Given the description of an element on the screen output the (x, y) to click on. 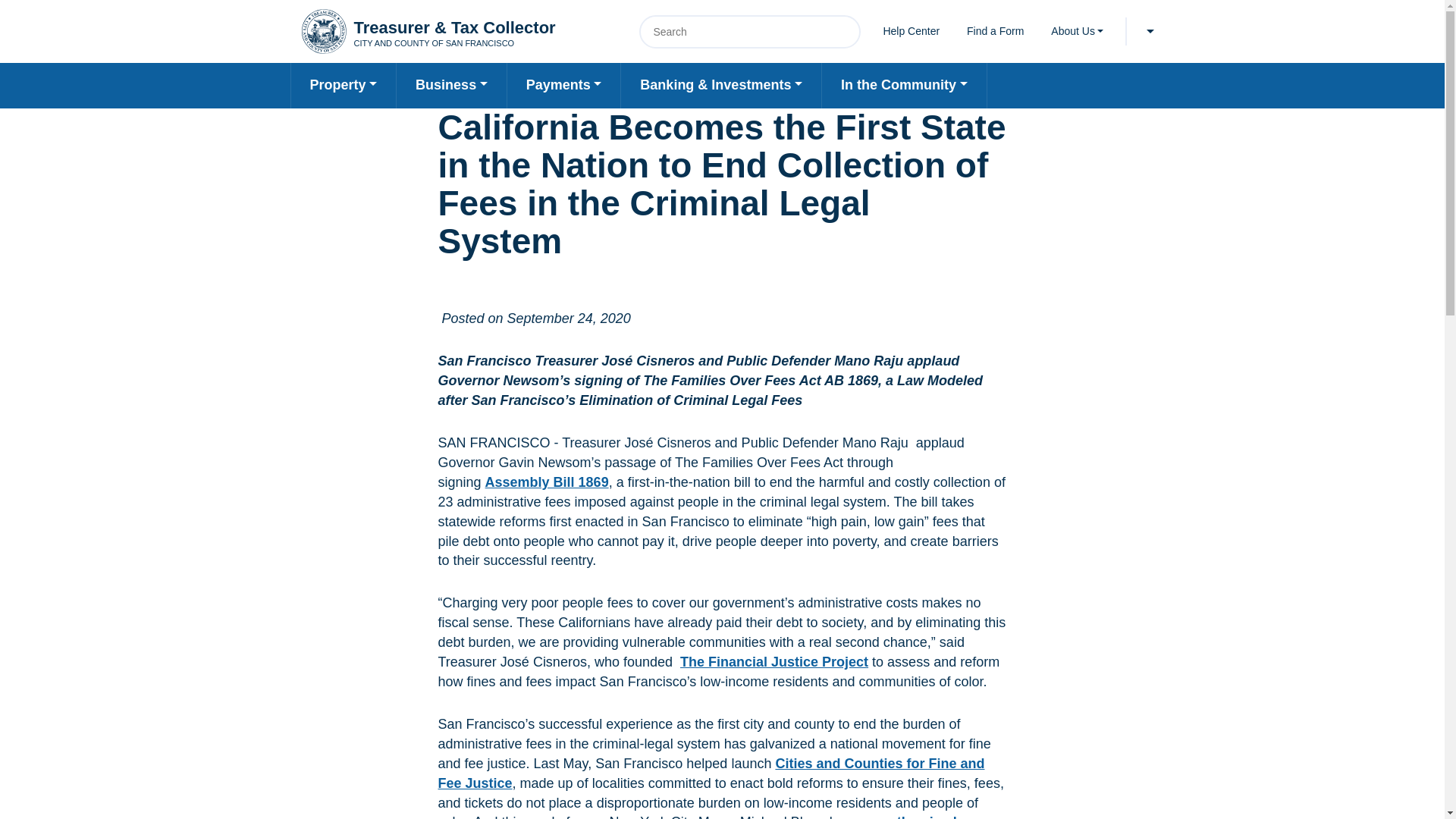
Business (451, 85)
Help Center (910, 31)
Find a Form (994, 31)
About Us (1077, 31)
Property (343, 85)
